Given the description of an element on the screen output the (x, y) to click on. 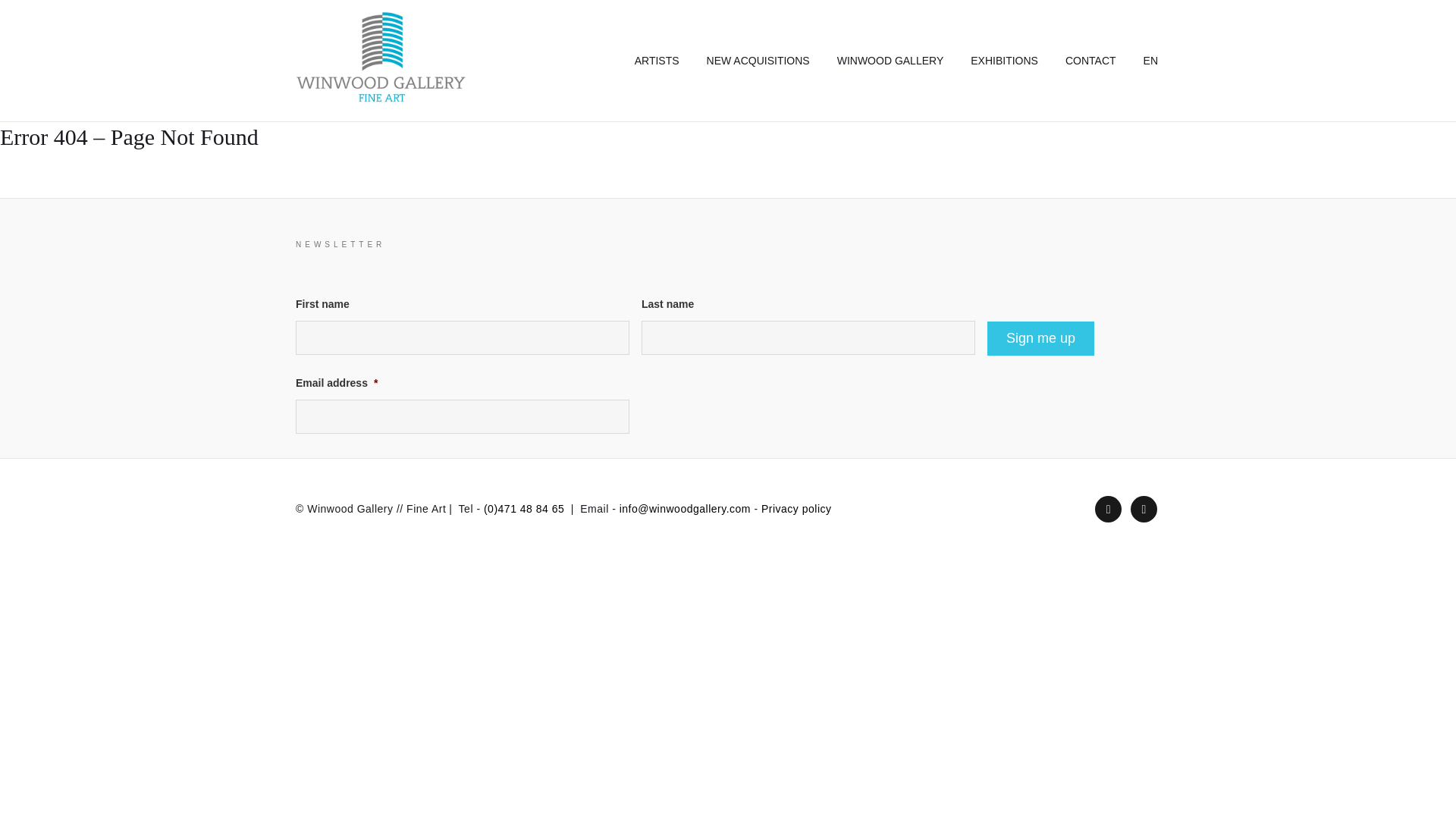
NEW ACQUISITIONS (758, 60)
CONTACT (1090, 60)
ARTISTS (657, 60)
WINWOOD GALLERY (891, 60)
Sign me up (1040, 338)
Privacy policy (796, 508)
EXHIBITIONS (1003, 60)
EN (1150, 60)
Sign me up (1040, 338)
